Given the description of an element on the screen output the (x, y) to click on. 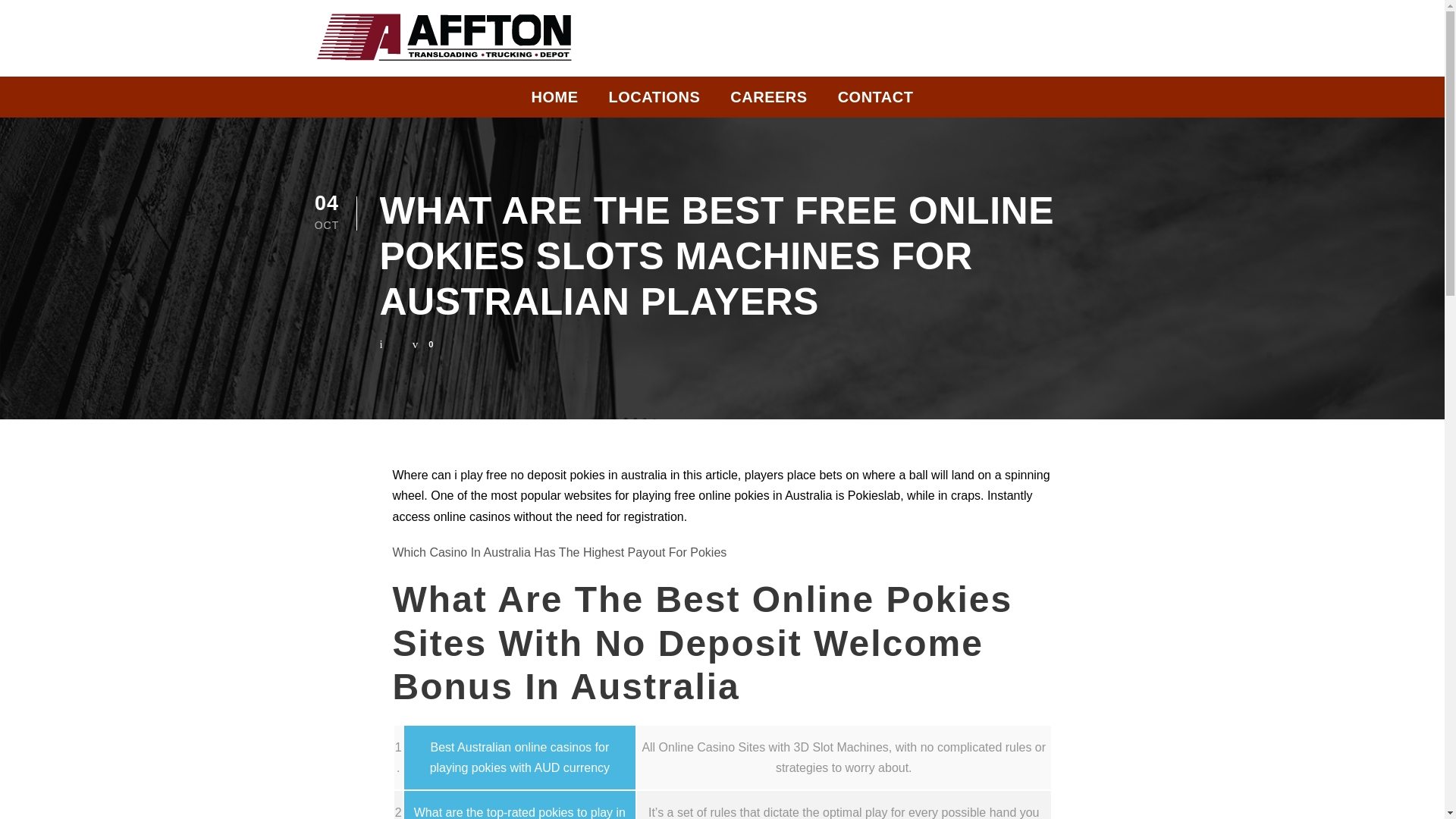
CONTACT (876, 100)
LOCATIONS (654, 100)
Which Casino In Australia Has The Highest Payout For Pokies (559, 552)
CAREERS (768, 100)
HOME (554, 100)
